Given the description of an element on the screen output the (x, y) to click on. 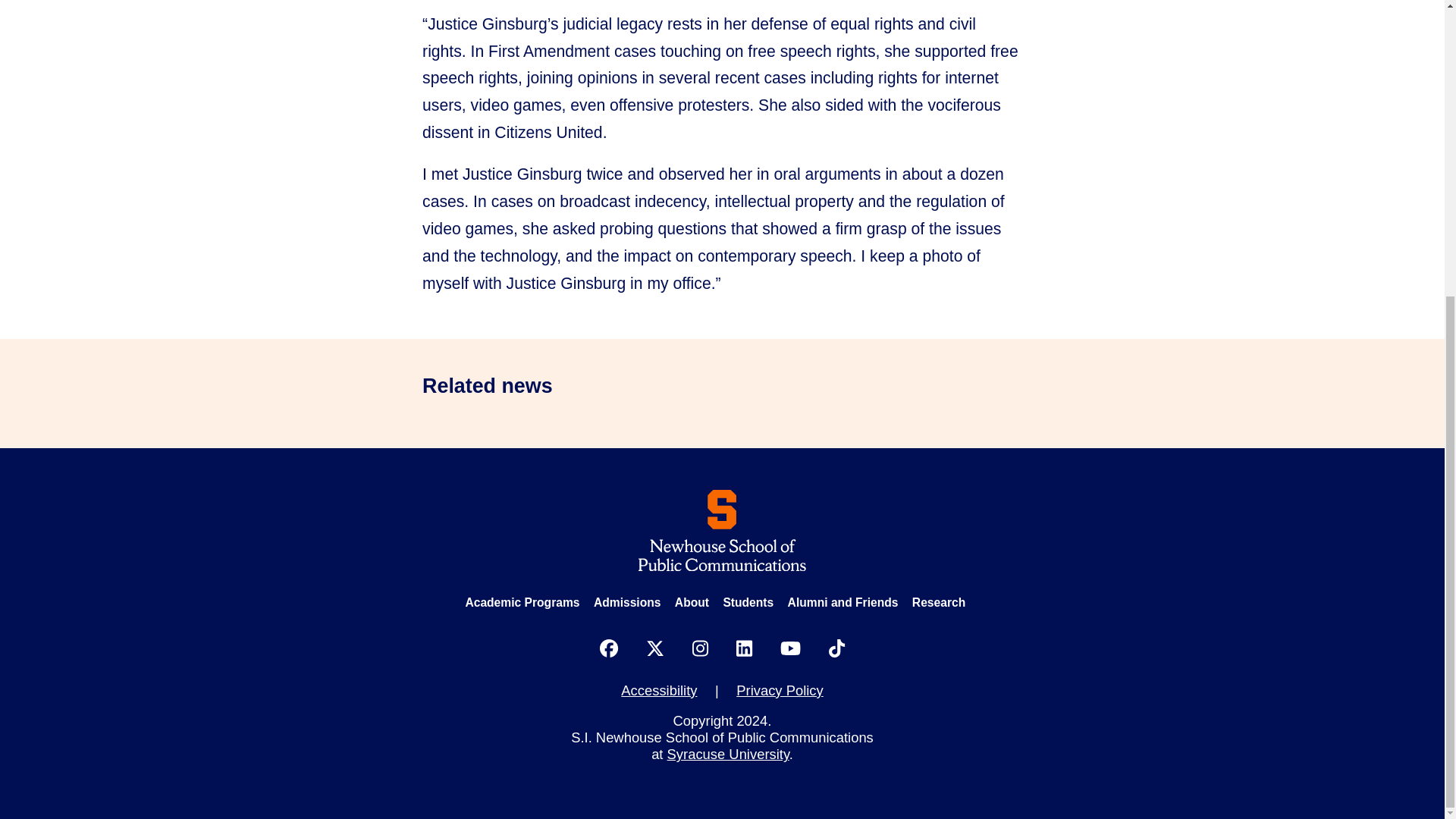
Admissions (627, 602)
Students (747, 602)
Alumni and Friends (842, 602)
Research (938, 602)
About (692, 602)
Academic Programs (521, 602)
